Given the description of an element on the screen output the (x, y) to click on. 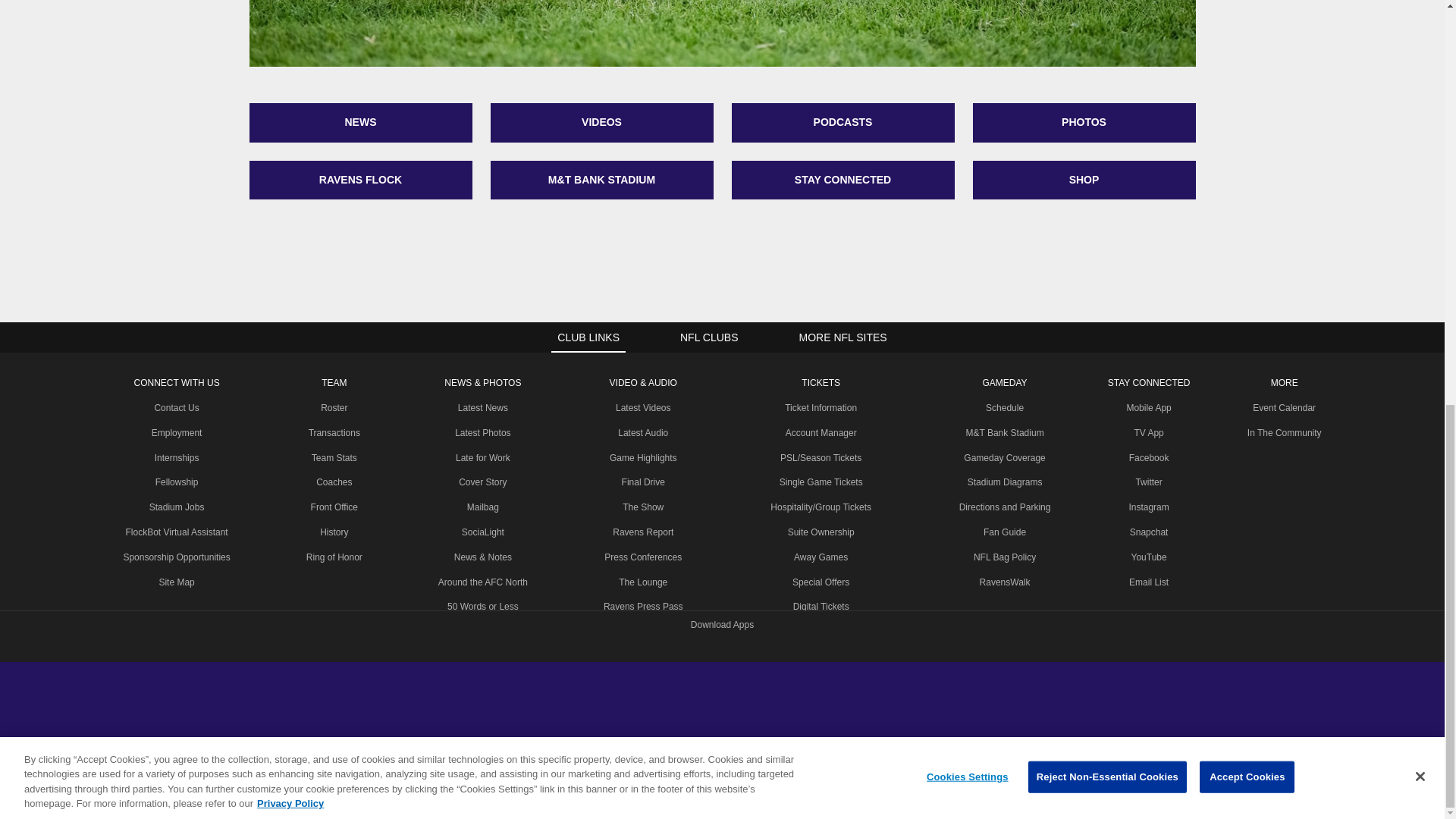
PODCASTS (841, 122)
SHOP (1083, 179)
RAVENS FLOCK (359, 179)
PHOTOS (1083, 122)
VIDEOS (601, 122)
NEWS (359, 122)
CLUB LINKS (588, 337)
STAY CONNECTED (841, 179)
